Given the description of an element on the screen output the (x, y) to click on. 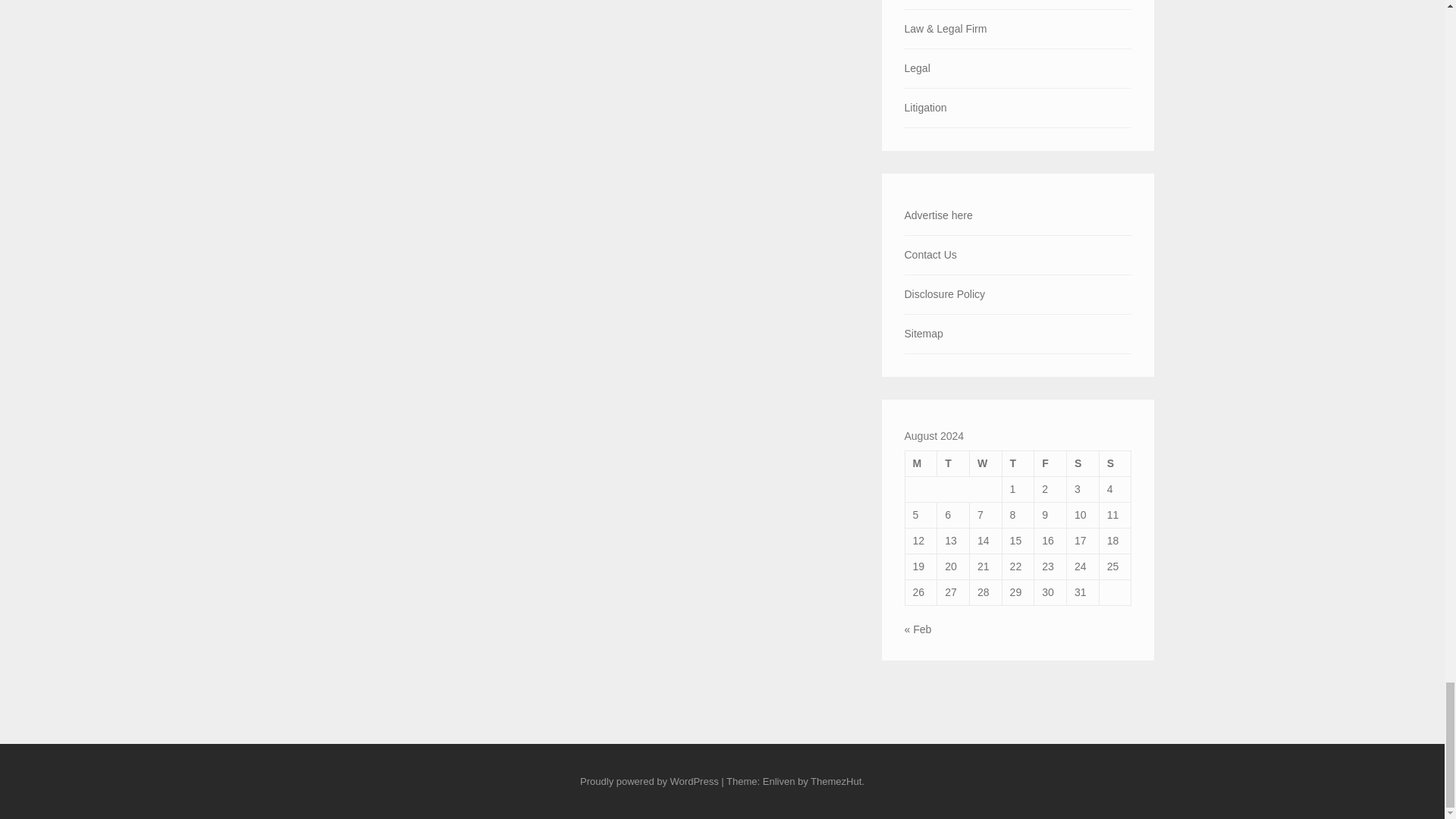
Saturday (1083, 462)
Monday (920, 462)
Thursday (1017, 462)
Tuesday (953, 462)
Wednesday (985, 462)
Friday (1050, 462)
Sunday (1115, 462)
